Given the description of an element on the screen output the (x, y) to click on. 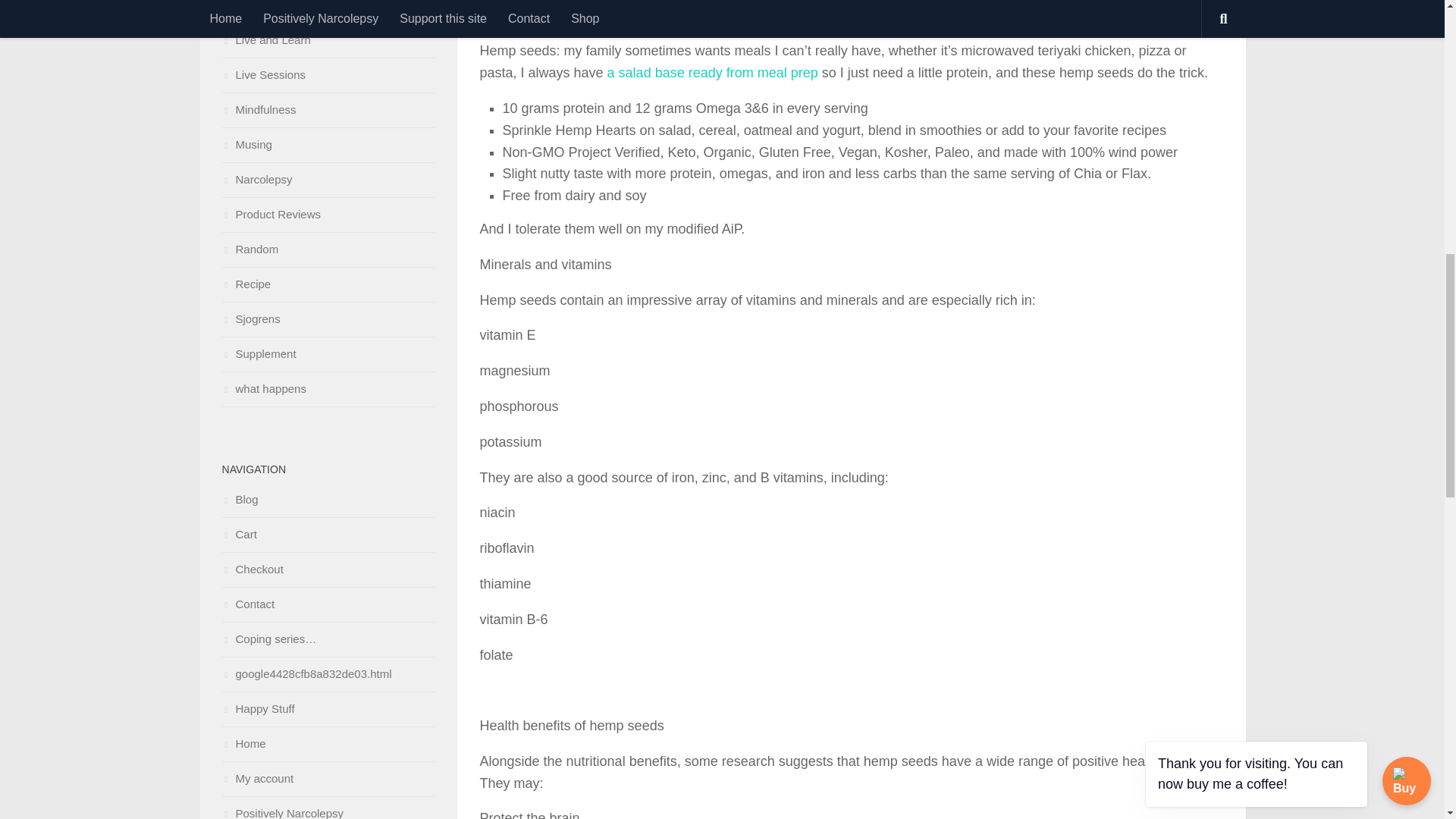
a salad base ready from meal prep (712, 72)
